Given the description of an element on the screen output the (x, y) to click on. 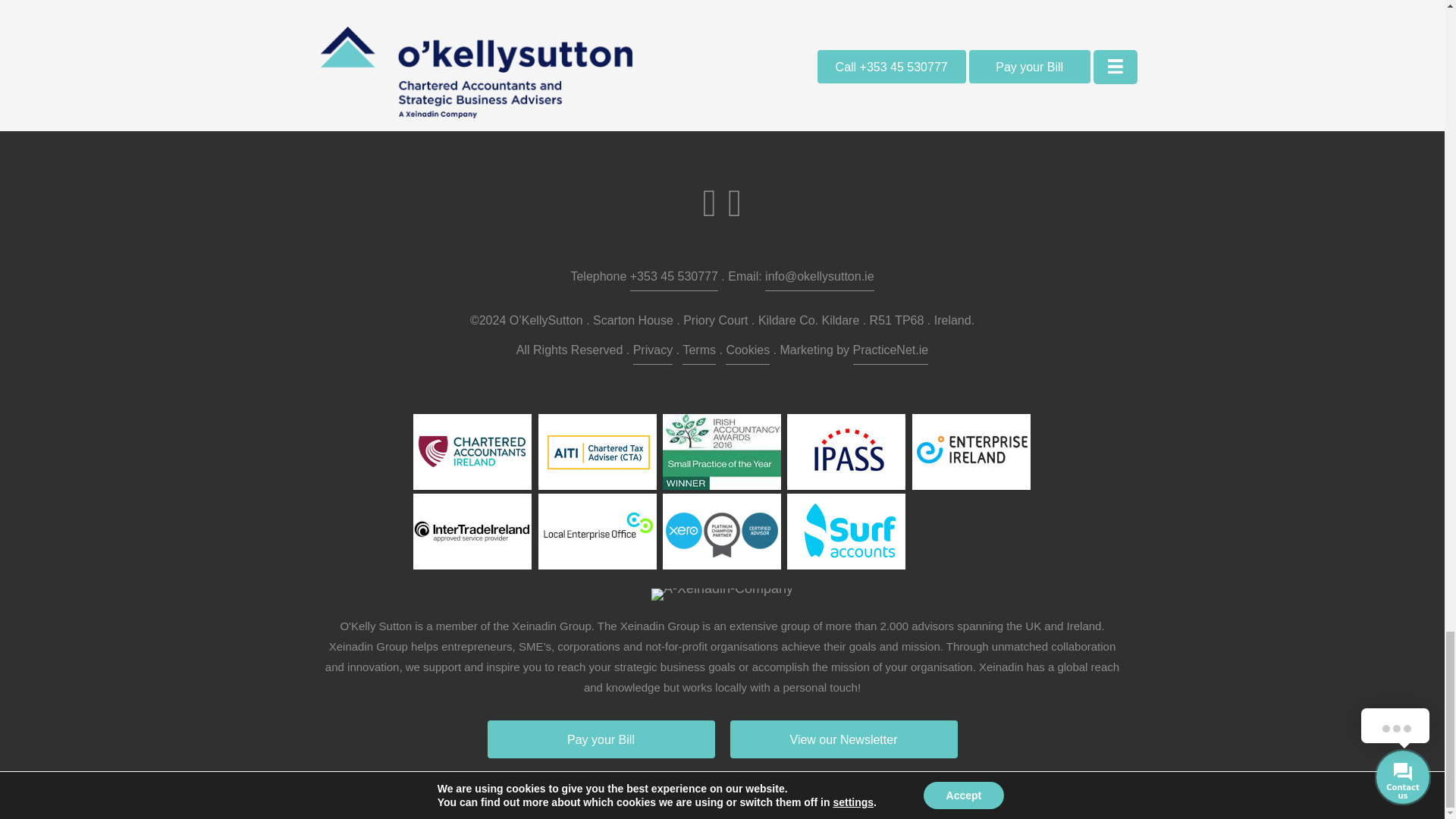
Terms (699, 351)
PracticeNet.ie (890, 351)
Cookies (747, 351)
A-Xeinadin-Company (721, 594)
Privacy (652, 351)
